Given the description of an element on the screen output the (x, y) to click on. 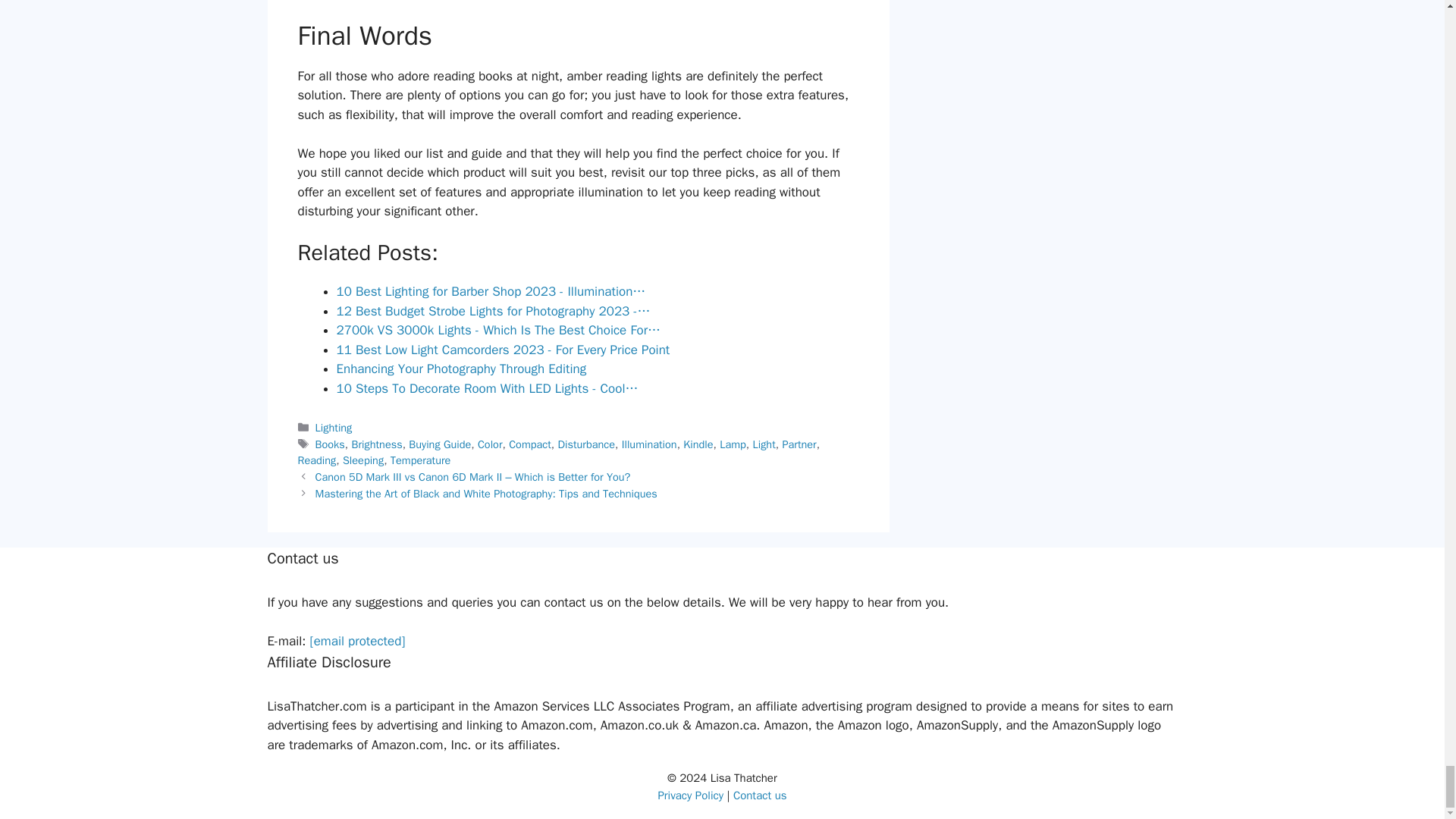
Lamp (732, 444)
Buying Guide (439, 444)
Lighting (333, 427)
Kindle (697, 444)
Partner (798, 444)
Enhancing Your Photography Through Editing (461, 368)
Light (763, 444)
Books (330, 444)
Brightness (377, 444)
